Given the description of an element on the screen output the (x, y) to click on. 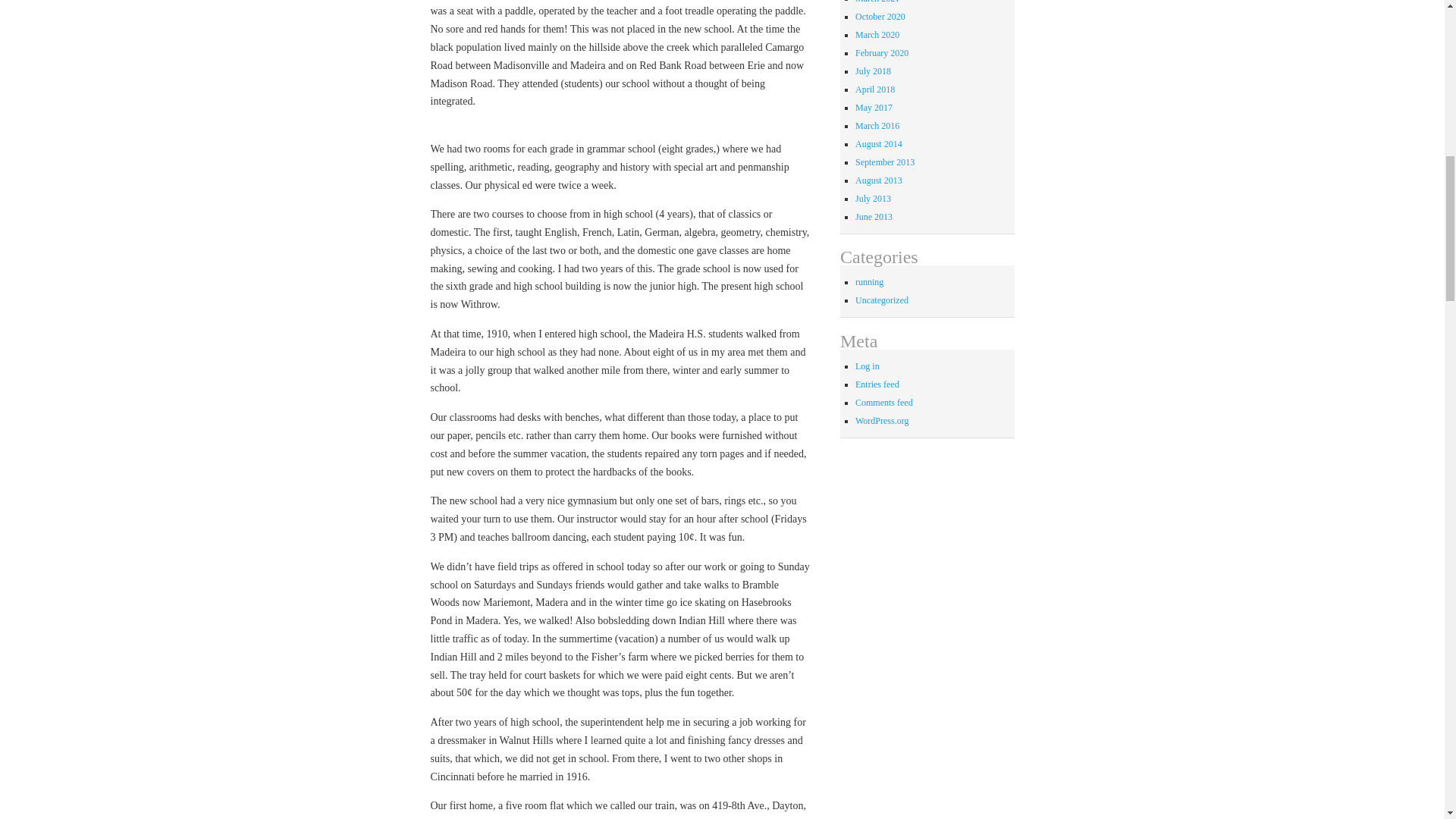
March 2021 (877, 2)
February 2020 (882, 52)
July 2018 (873, 71)
October 2020 (880, 16)
March 2020 (877, 34)
